Given the description of an element on the screen output the (x, y) to click on. 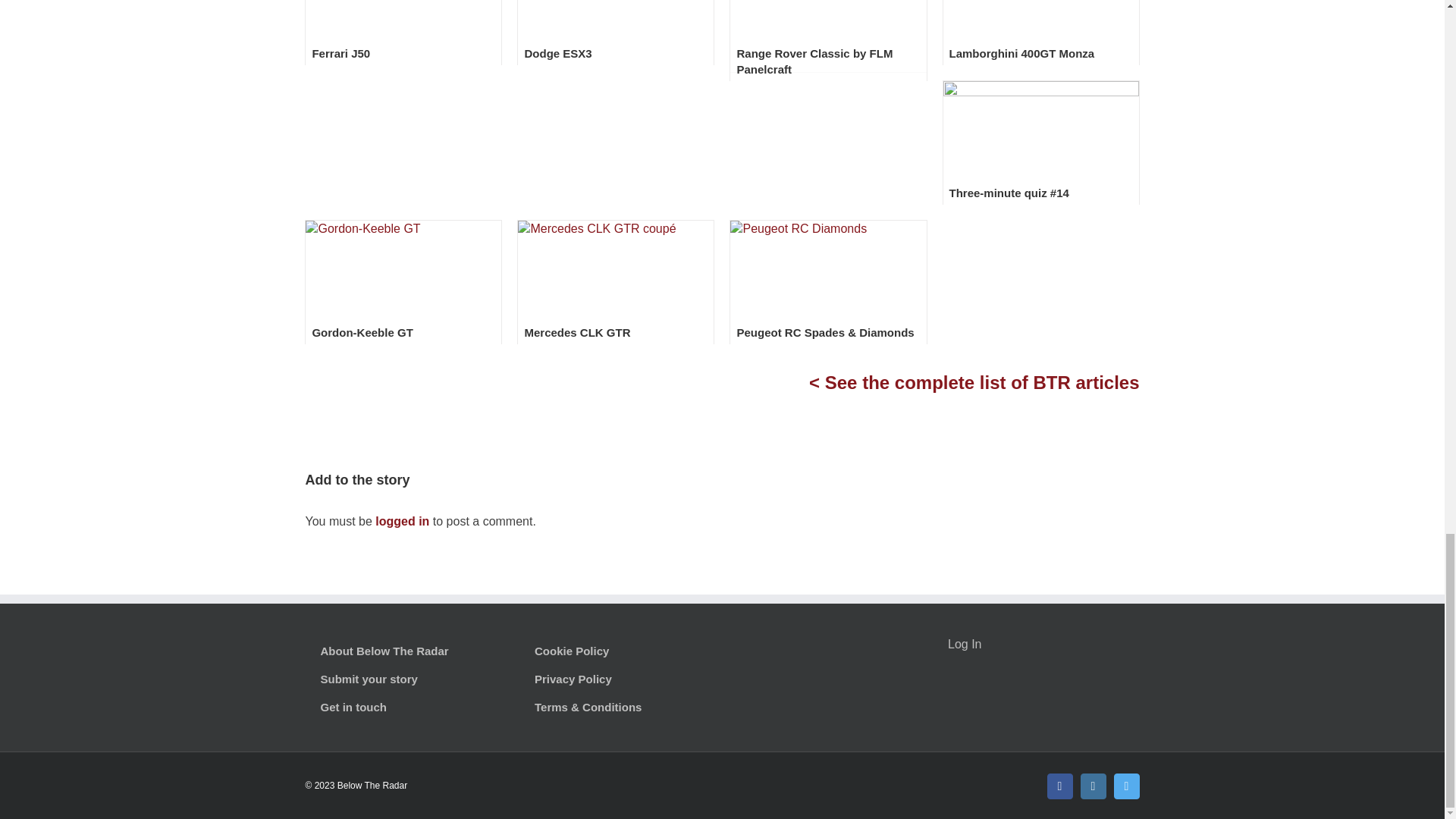
Instagram (1092, 786)
Ferrari J50 (340, 52)
Dodge ESX3 (557, 52)
Twitter (1125, 786)
Facebook (1058, 786)
